Given the description of an element on the screen output the (x, y) to click on. 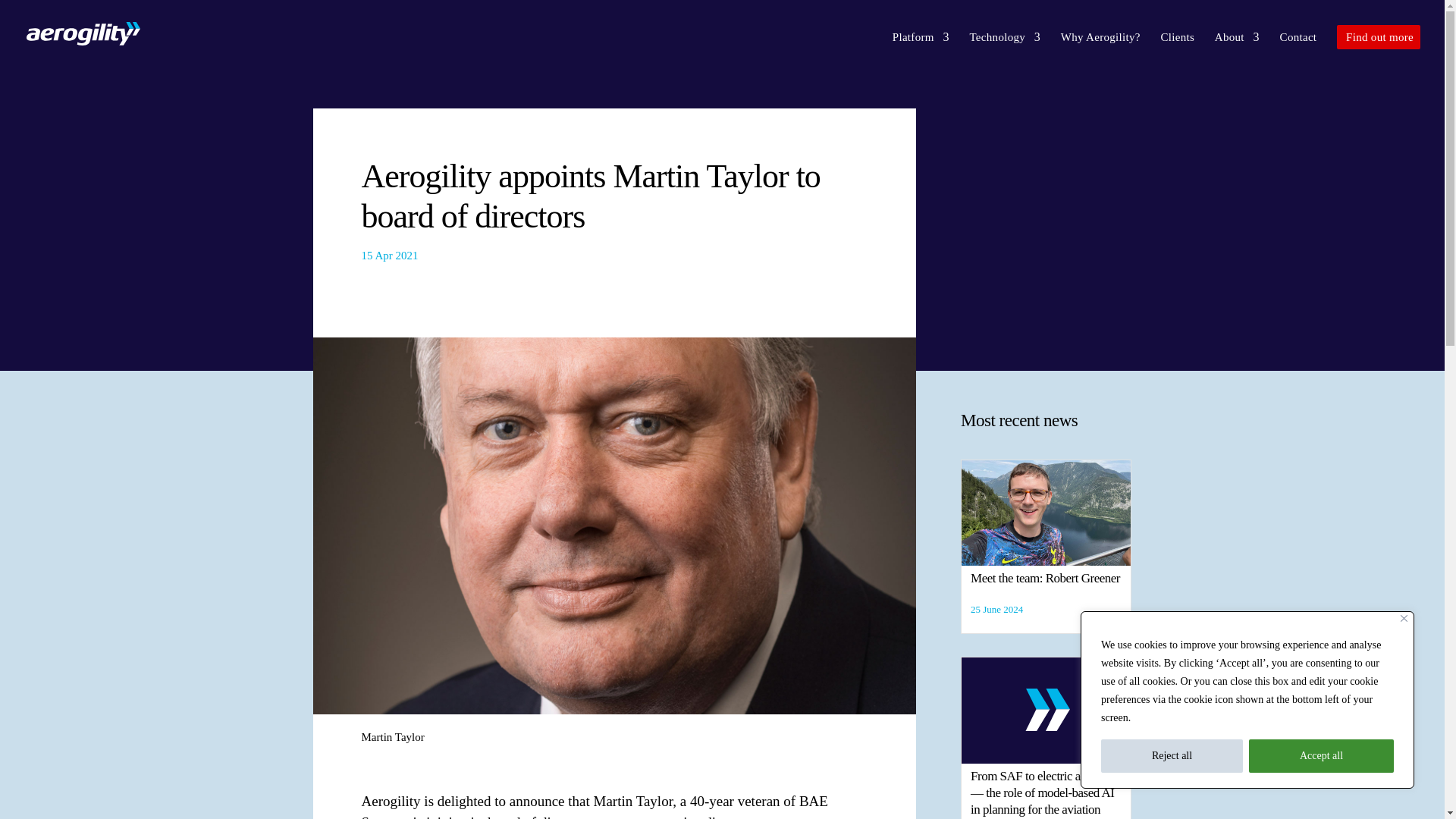
Contact (1298, 49)
Why Aerogility? (1100, 49)
Technology (1005, 49)
Find out more (1378, 37)
About (1236, 49)
Accept all (1321, 756)
Clients (1176, 49)
Reject all (1171, 756)
Platform (920, 49)
